Given the description of an element on the screen output the (x, y) to click on. 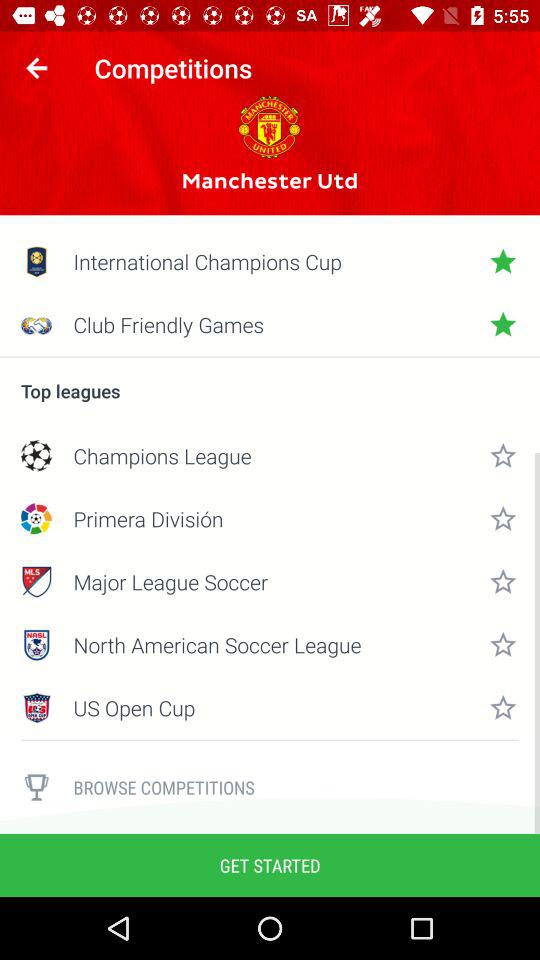
launch the item above the club friendly games (269, 261)
